Given the description of an element on the screen output the (x, y) to click on. 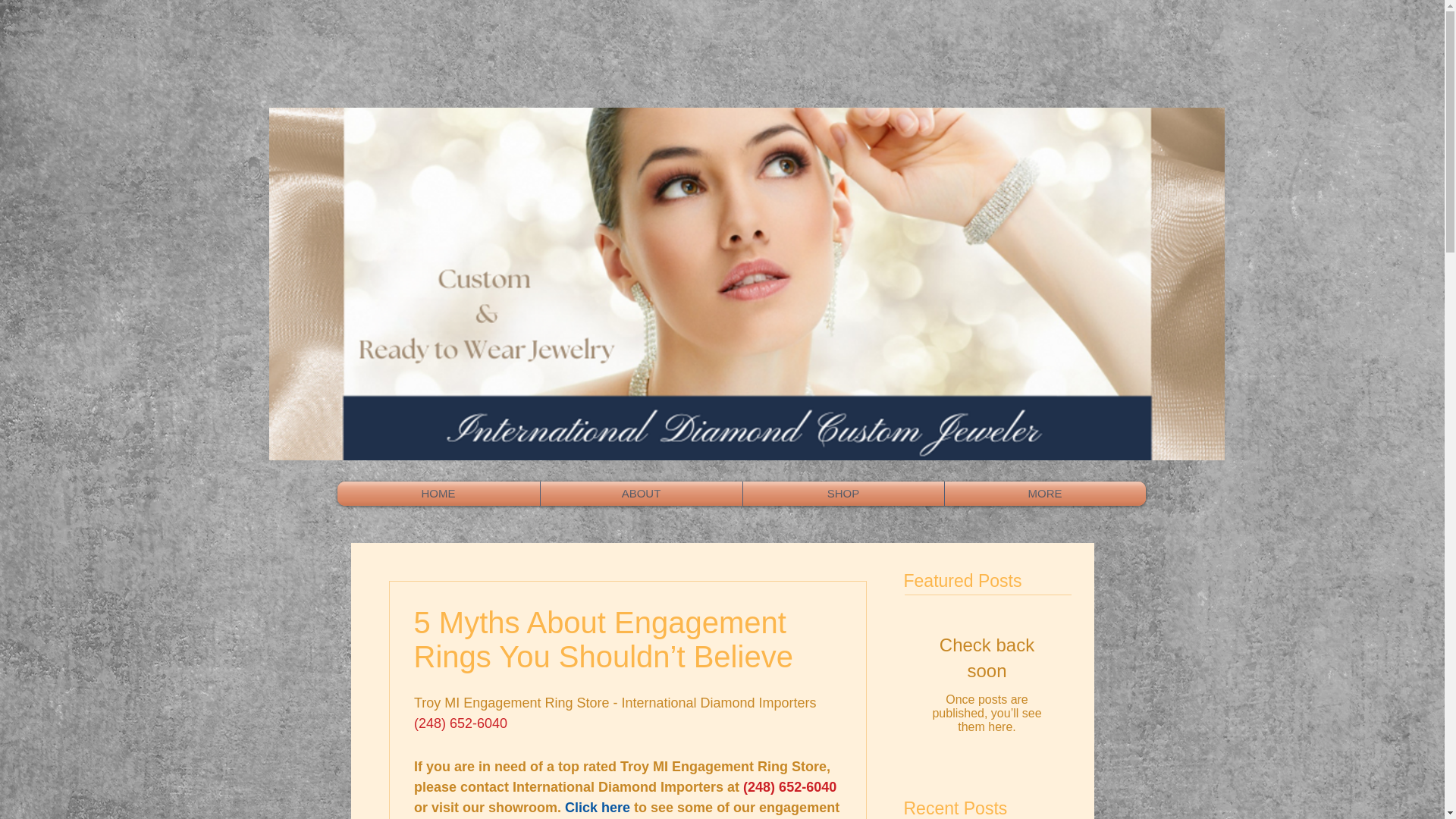
MORE (1044, 493)
ABOUT (640, 493)
SHOP (842, 493)
HOME (437, 493)
Click here (597, 807)
